Given the description of an element on the screen output the (x, y) to click on. 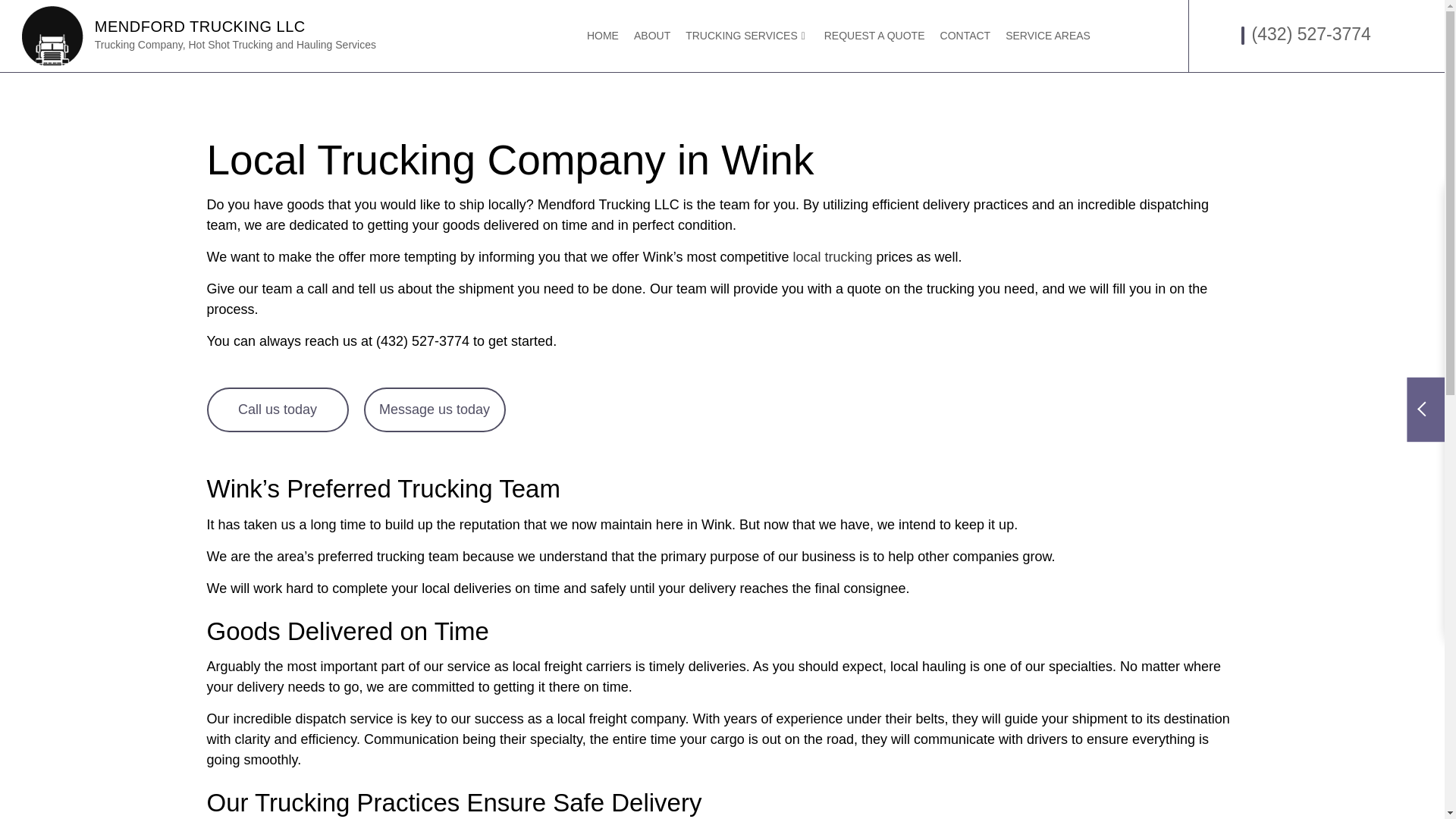
Call us today (276, 409)
Send us a message (434, 409)
EXPEDITED TRUCKING (627, 109)
REQUEST A QUOTE (874, 36)
TRUCKING COMPANY (823, 162)
HOT SHOT TRUCKING SERVICES (823, 135)
HAULING SERVICES (627, 135)
Message us today (434, 409)
Mendford Trucking LLC (199, 26)
local trucking (832, 255)
